Given the description of an element on the screen output the (x, y) to click on. 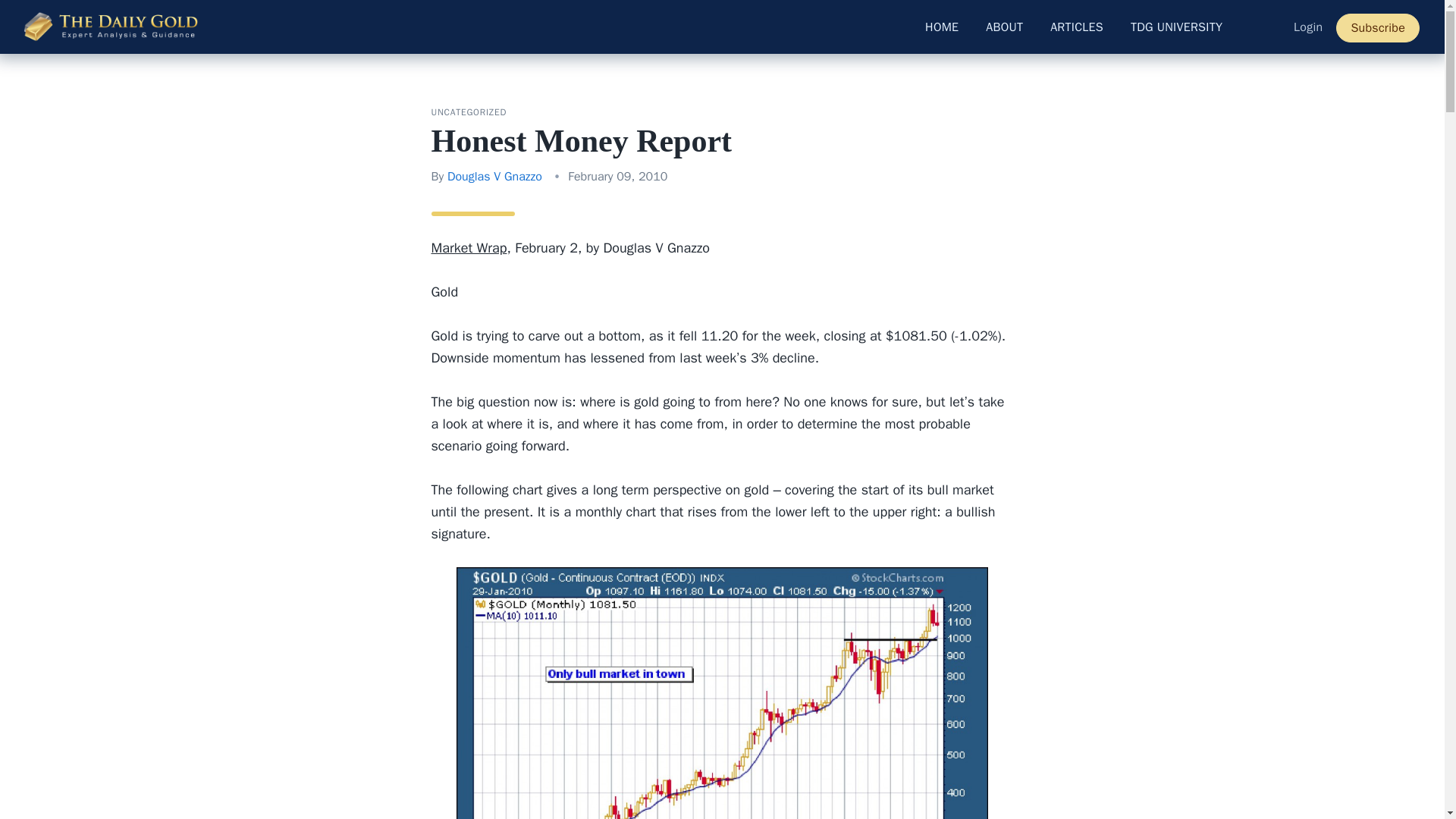
ABOUT (1004, 26)
HOME (941, 26)
Subscribe (1377, 27)
dg1 (722, 693)
ARTICLES (1076, 26)
TDG UNIVERSITY (1176, 26)
UNCATEGORIZED (468, 111)
Login (1307, 26)
Douglas V Gnazzo (493, 176)
